Given the description of an element on the screen output the (x, y) to click on. 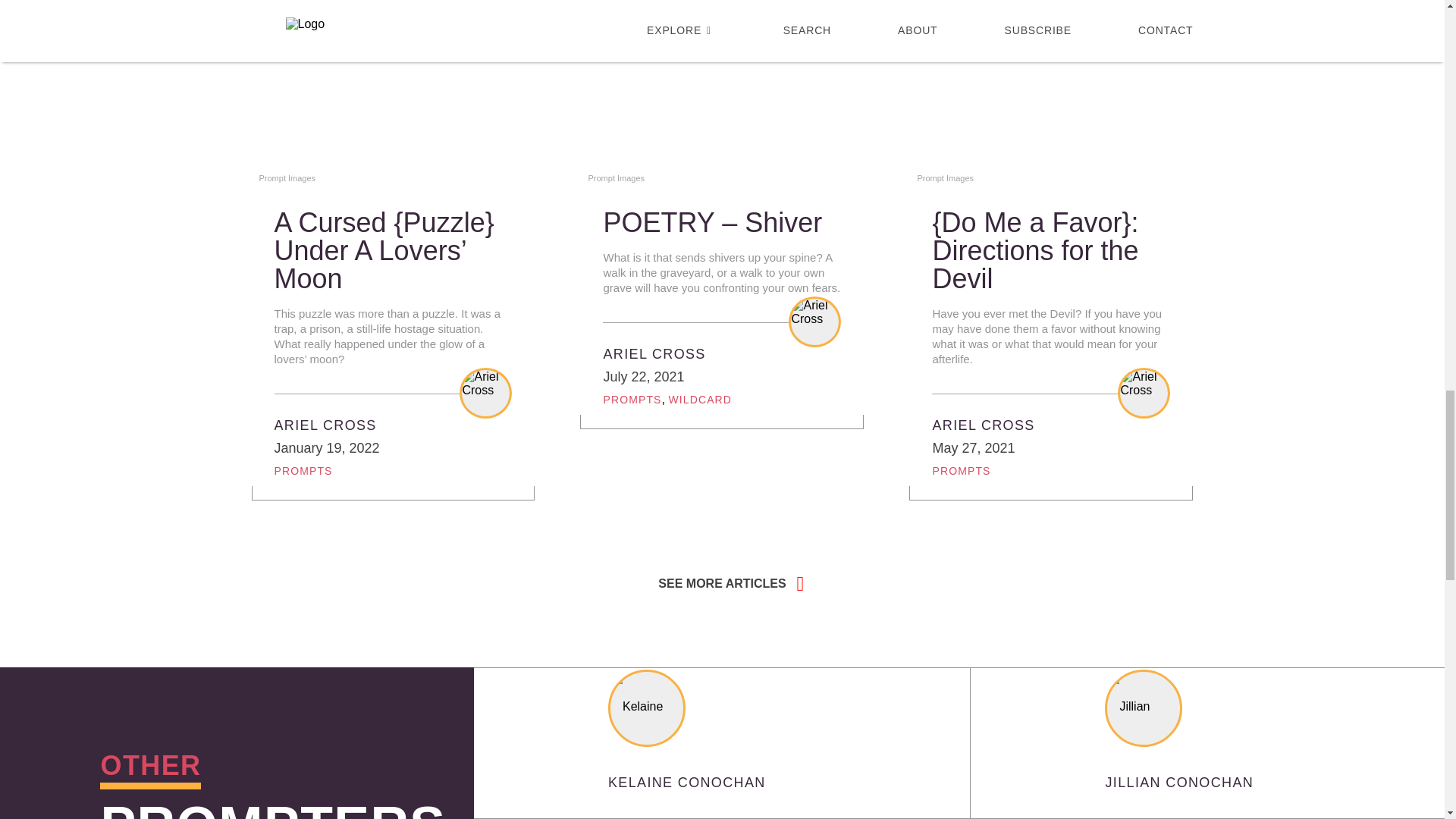
View all posts in Prompts (304, 470)
View all posts in Prompts (631, 399)
View all posts in Prompts (960, 470)
View all posts in Wildcard (700, 399)
